Given the description of an element on the screen output the (x, y) to click on. 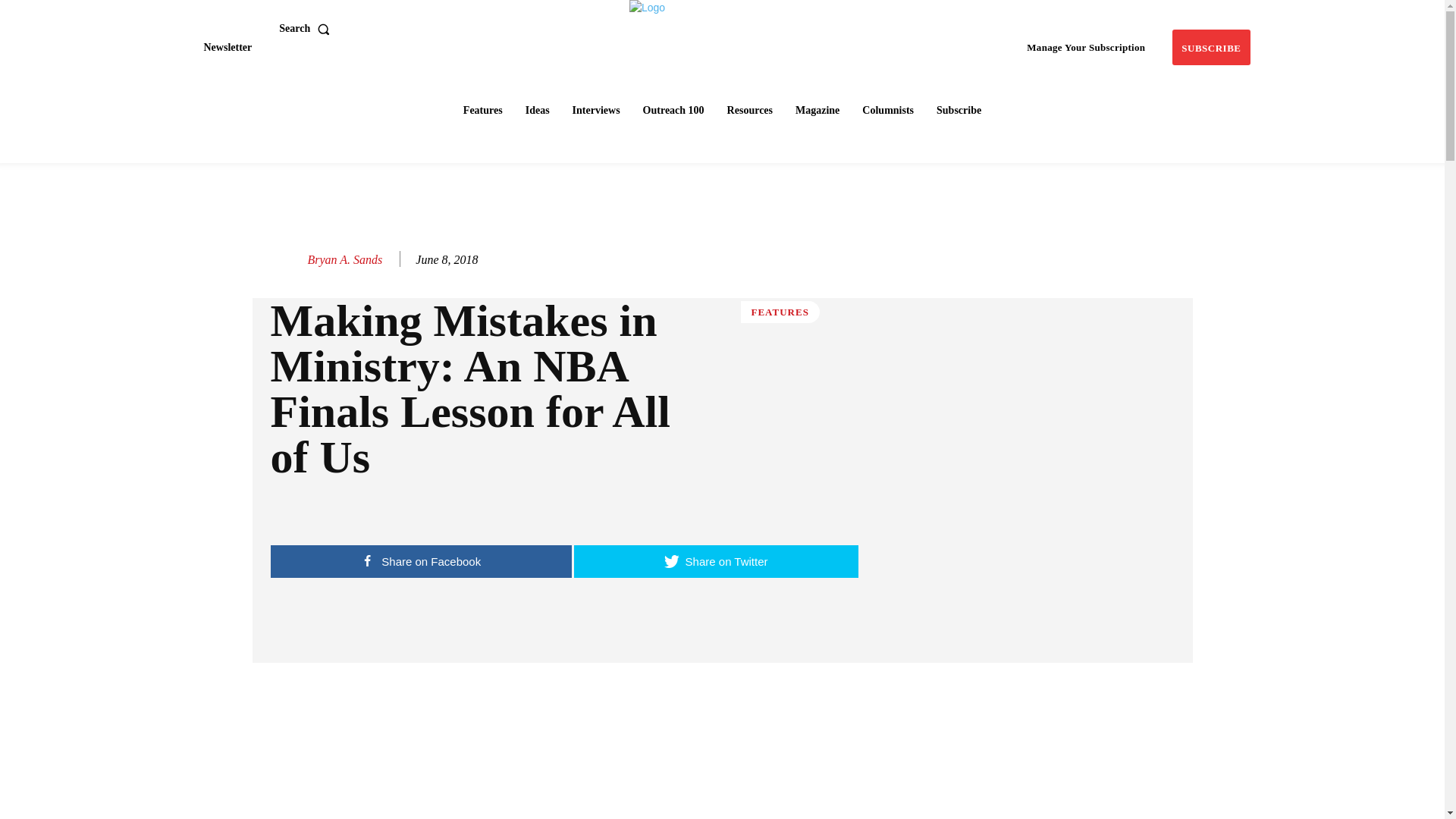
Subscribe (1210, 47)
Manage Your Subscription (1085, 47)
Newsletter (226, 47)
